Given the description of an element on the screen output the (x, y) to click on. 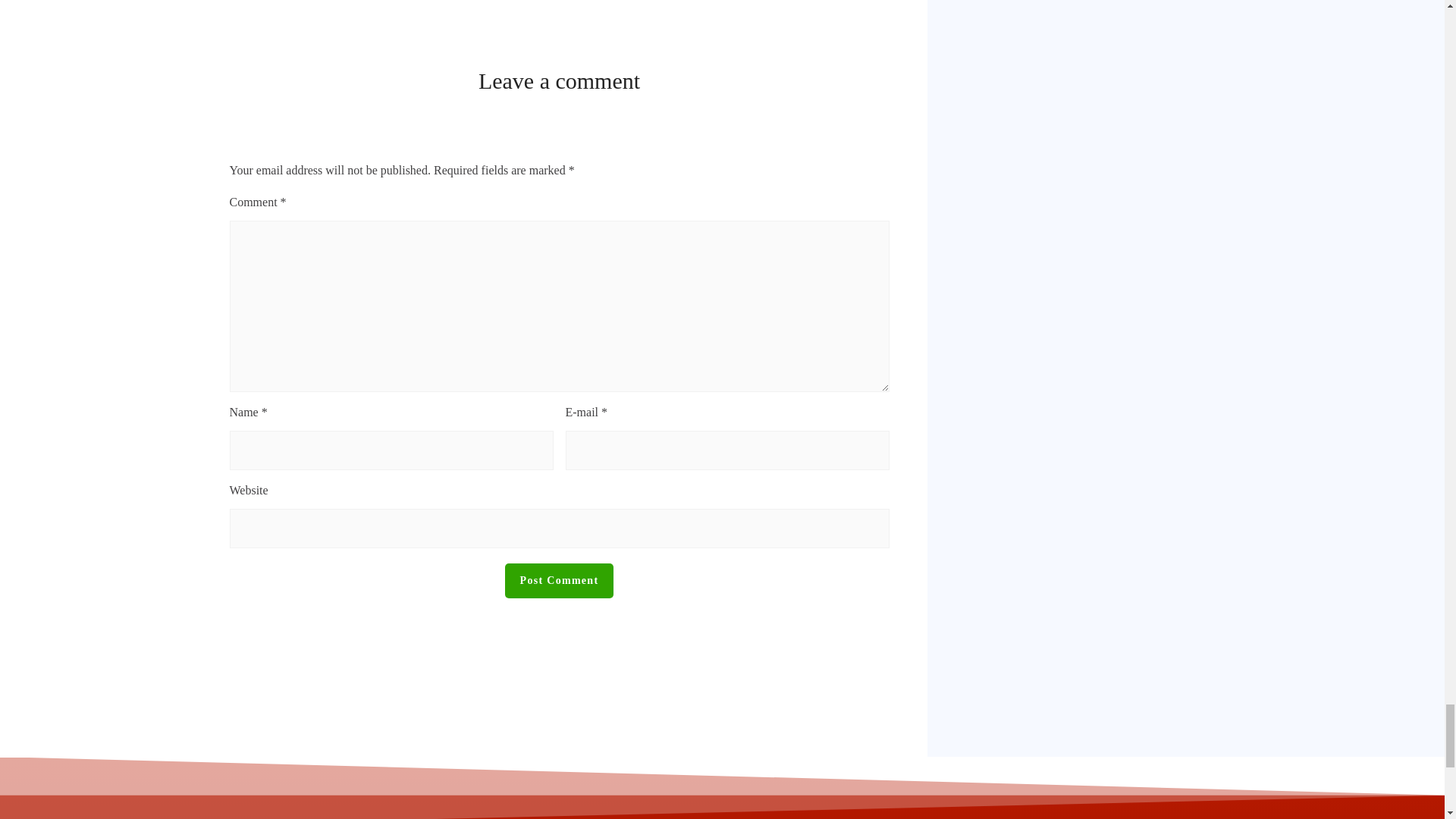
Post Comment (559, 580)
